Given the description of an element on the screen output the (x, y) to click on. 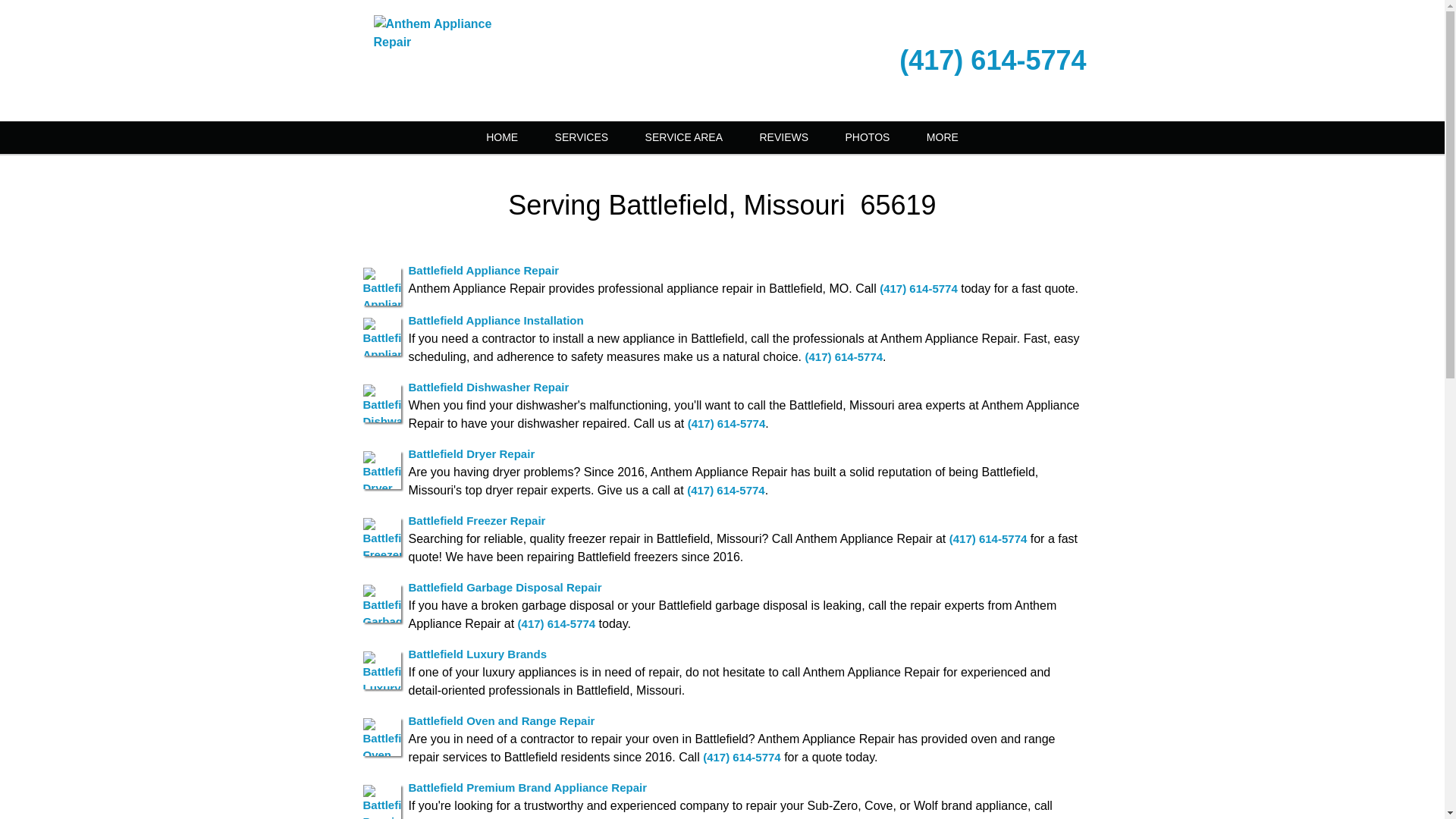
Battlefield Dishwasher Repair (488, 386)
MORE (942, 137)
Battlefield Dryer Repair (470, 453)
Battlefield Freezer Repair (475, 520)
Battlefield Oven and Range Repair (500, 720)
Battlefield Garbage Disposal Repair (504, 586)
SERVICES (582, 137)
PHOTOS (867, 137)
REVIEWS (783, 137)
Battlefield Appliance Repair (483, 269)
Battlefield Premium Brand Appliance Repair (526, 787)
HOME (501, 137)
Battlefield Luxury Brands (477, 653)
SERVICE AREA (683, 137)
Battlefield Appliance Installation (495, 319)
